Given the description of an element on the screen output the (x, y) to click on. 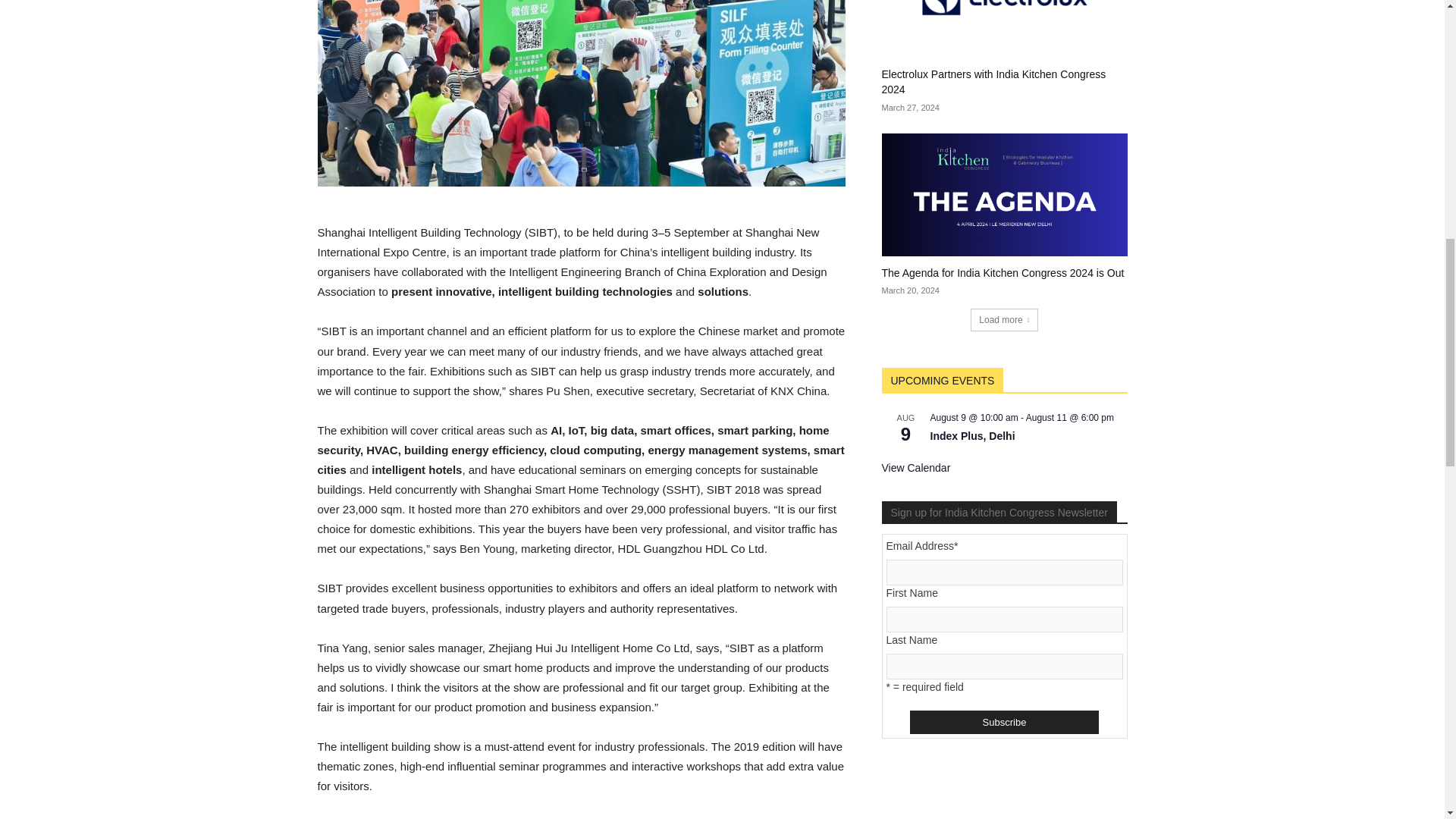
Subscribe (1004, 721)
